Given the description of an element on the screen output the (x, y) to click on. 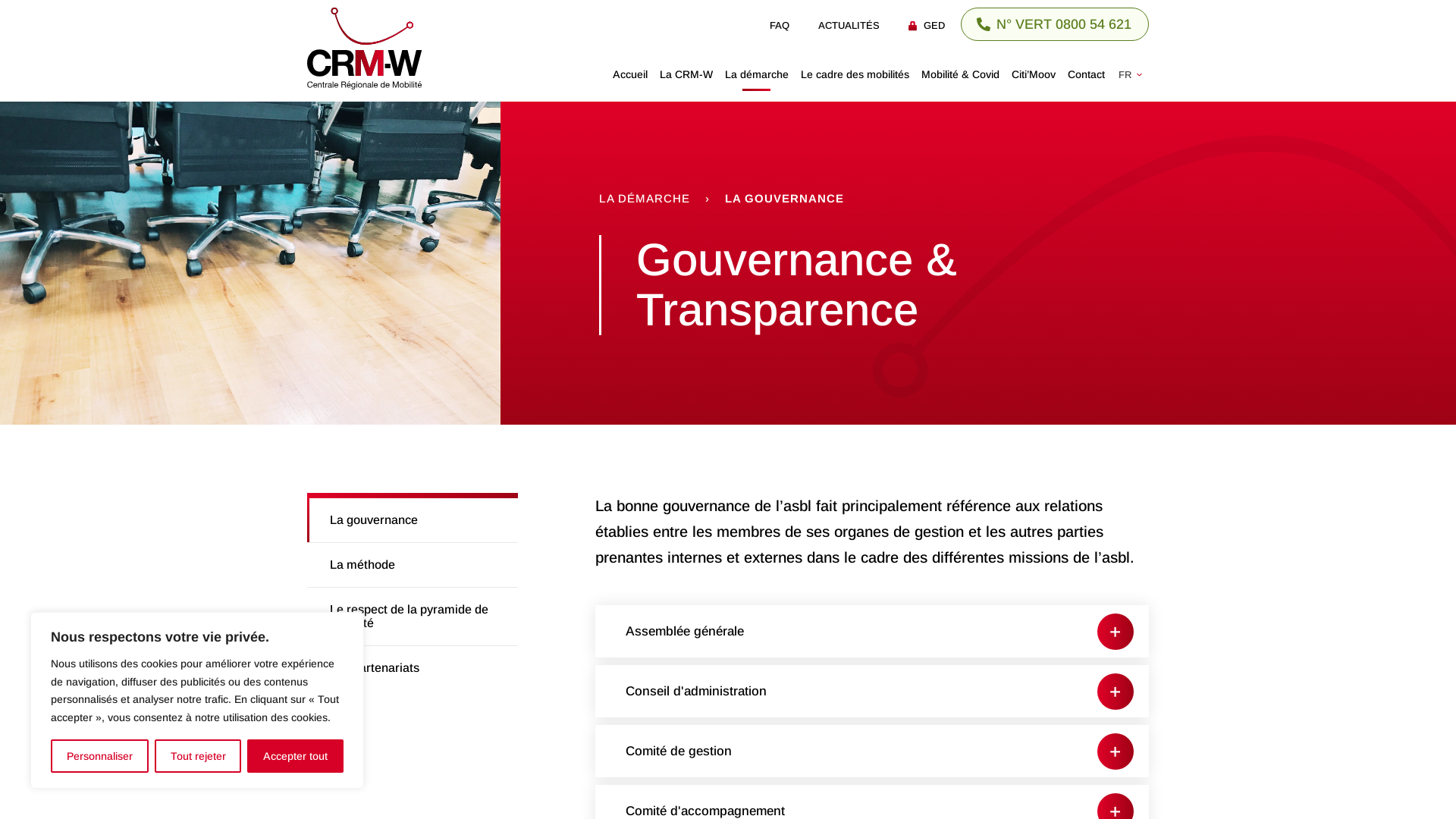
FAQ Element type: text (779, 25)
Accueil Element type: text (629, 74)
FR Element type: text (1133, 74)
La CRM-W Element type: text (685, 74)
Les partenariats Element type: text (412, 668)
GED Element type: text (926, 25)
Contact Element type: text (1085, 74)
La gouvernance Element type: text (412, 520)
Conseil d'administration Element type: text (871, 691)
